Given the description of an element on the screen output the (x, y) to click on. 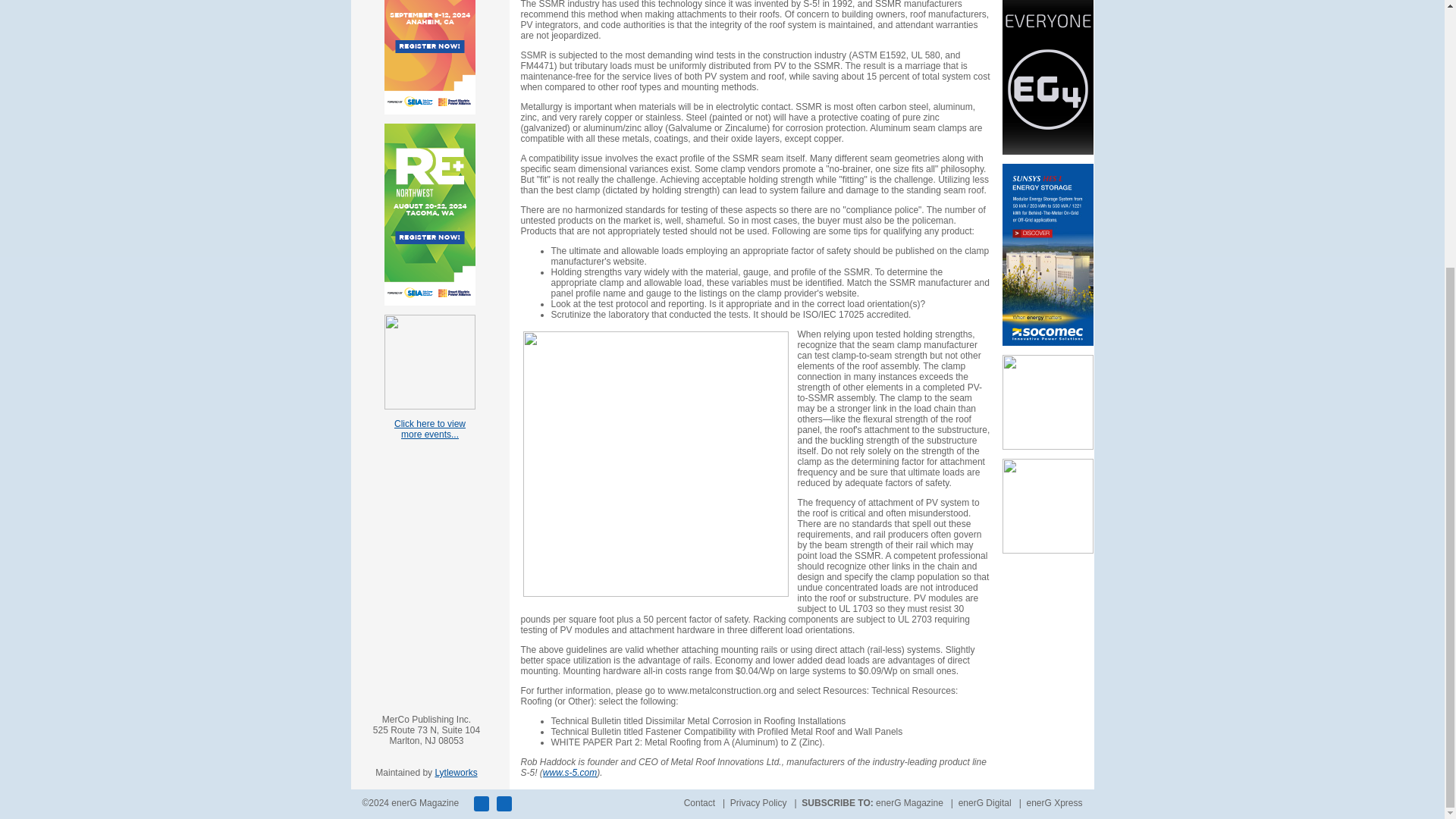
Privacy Policy (758, 801)
Subscribe to enerG Magazine (909, 801)
enerG Xpress (1053, 801)
Privacy Policy (758, 801)
www.s-5.com (569, 772)
Lytleworks (455, 772)
enerG Xpress (1053, 801)
Contact (699, 801)
enerG Magazine (909, 801)
